Given the description of an element on the screen output the (x, y) to click on. 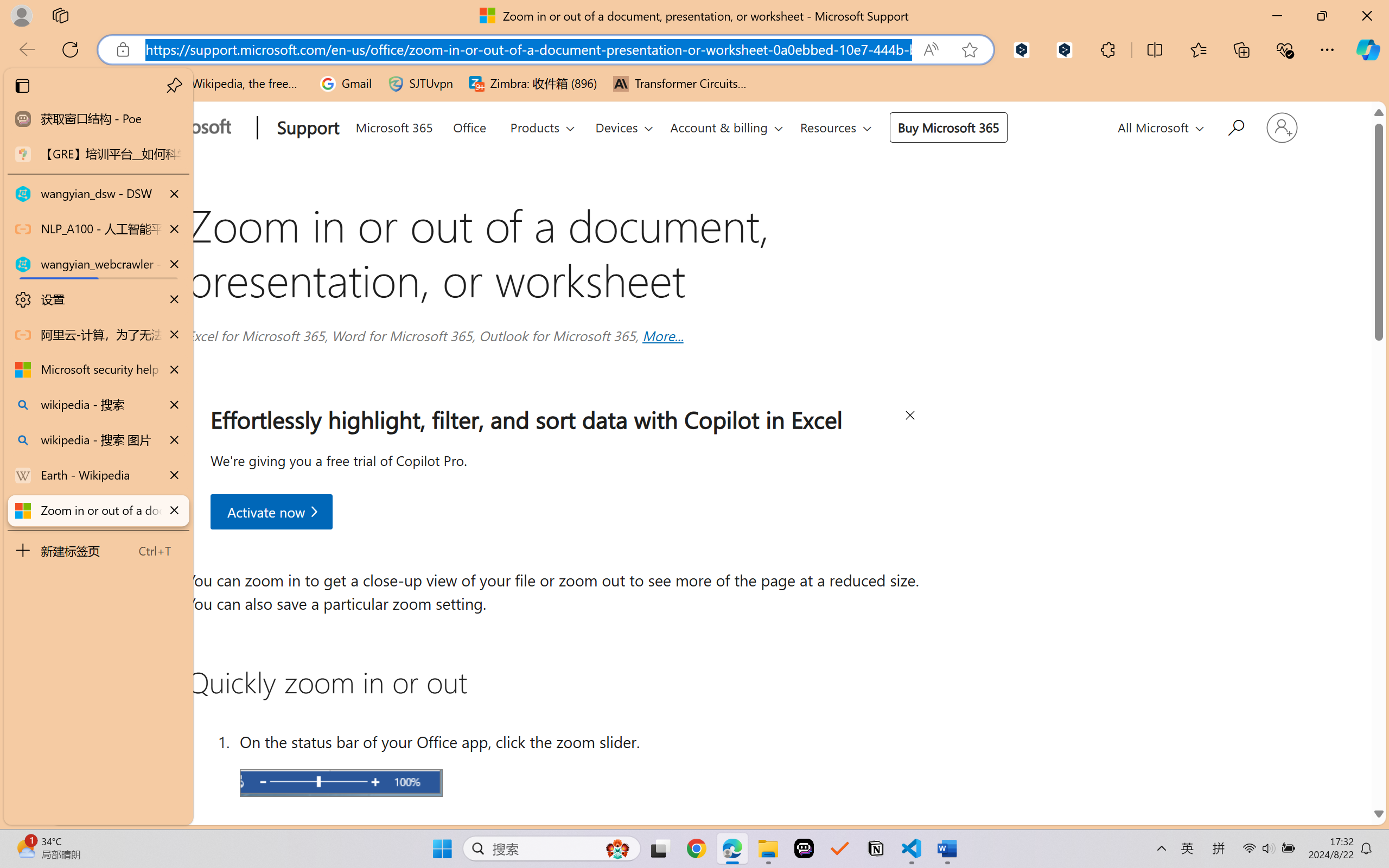
Sign in to your account (1281, 127)
wangyian_webcrawler - DSW (97, 264)
Close Ad (908, 417)
